Given the description of an element on the screen output the (x, y) to click on. 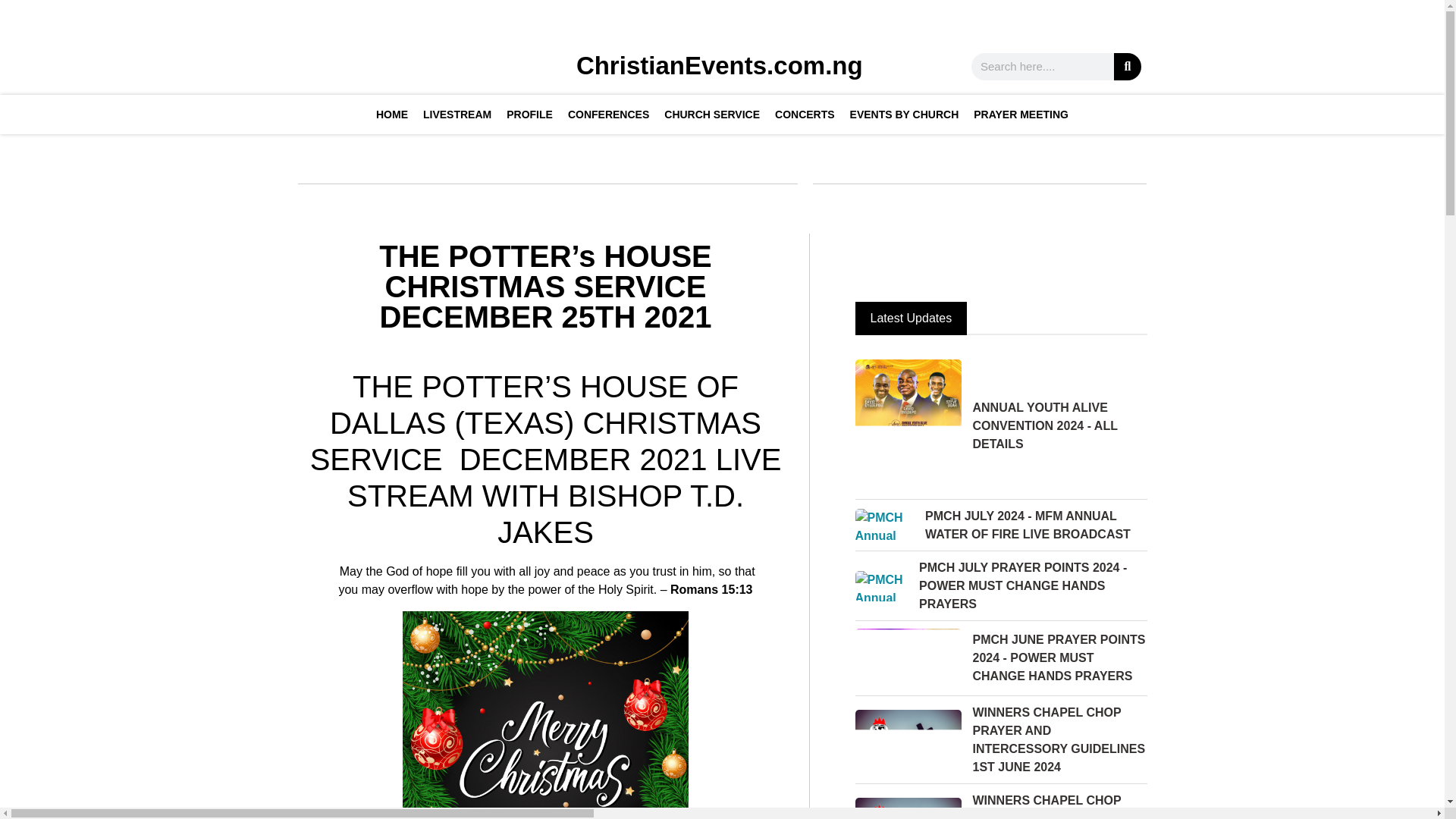
HOME (391, 114)
CONCERTS (805, 114)
EVENTS BY CHURCH (904, 114)
PRAYER MEETING (1020, 114)
CONFERENCES (608, 114)
LIVESTREAM (456, 114)
PROFILE (529, 114)
CHURCH SERVICE (711, 114)
ChristianEvents.com.ng (719, 65)
